Given the description of an element on the screen output the (x, y) to click on. 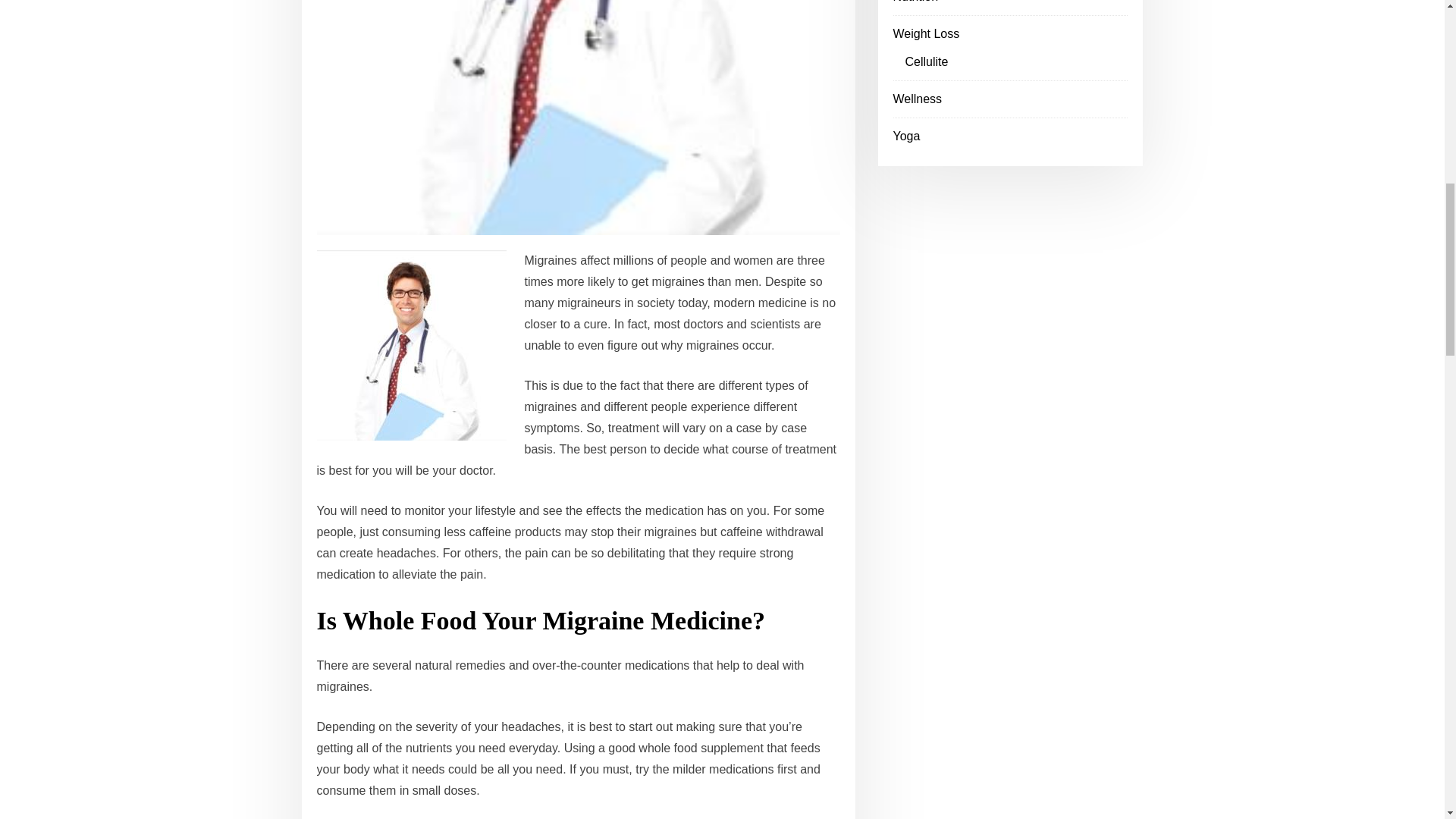
Yoga (906, 135)
Wellness (917, 98)
Nutrition (916, 1)
Weight Loss (926, 33)
Cellulite (927, 61)
